Given the description of an element on the screen output the (x, y) to click on. 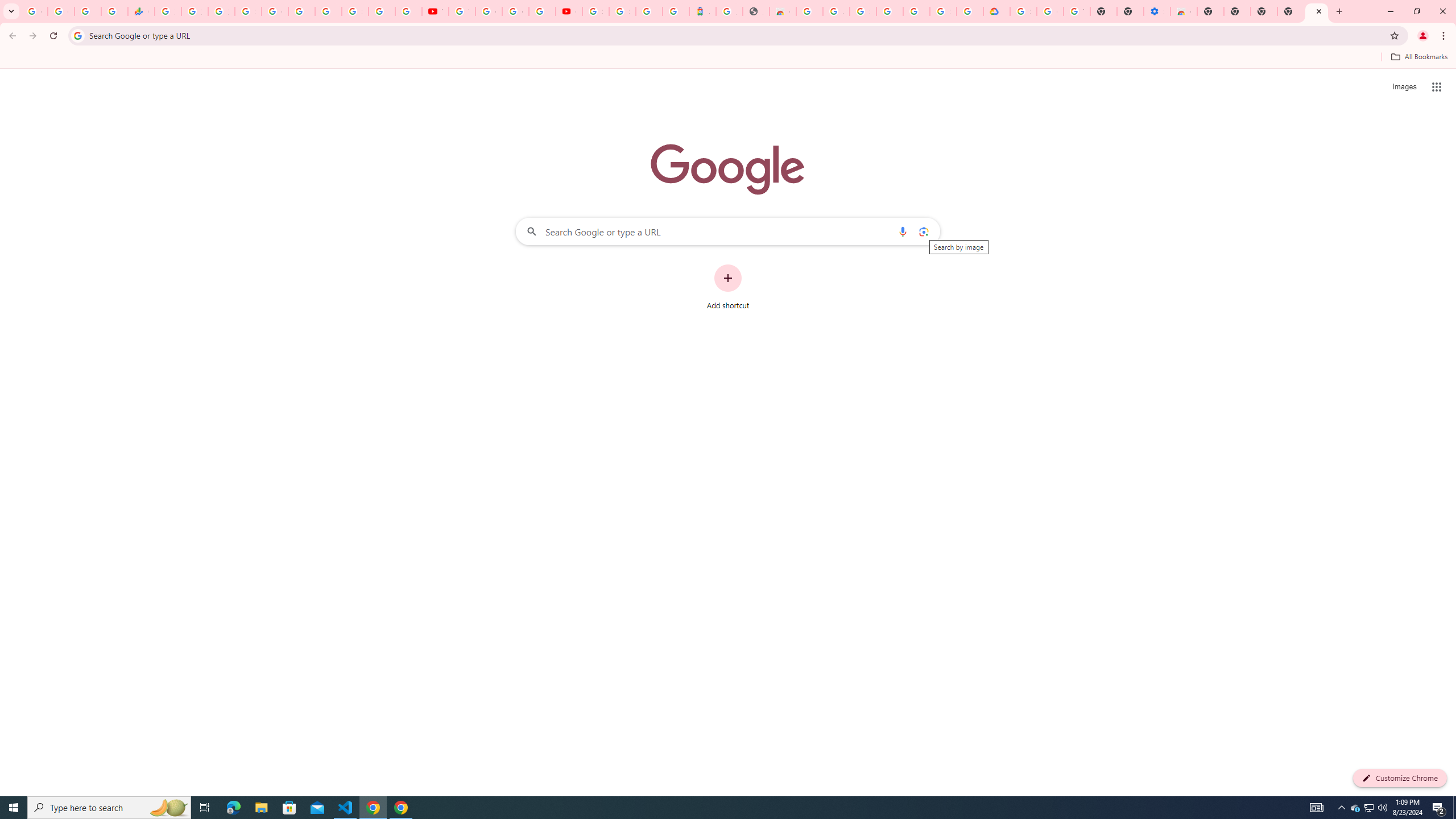
New Tab (1210, 11)
Content Creator Programs & Opportunities - YouTube Creators (569, 11)
Google Account Help (1050, 11)
Add shortcut (727, 287)
Sign in - Google Accounts (248, 11)
YouTube (462, 11)
Search Google or type a URL (727, 230)
